Given the description of an element on the screen output the (x, y) to click on. 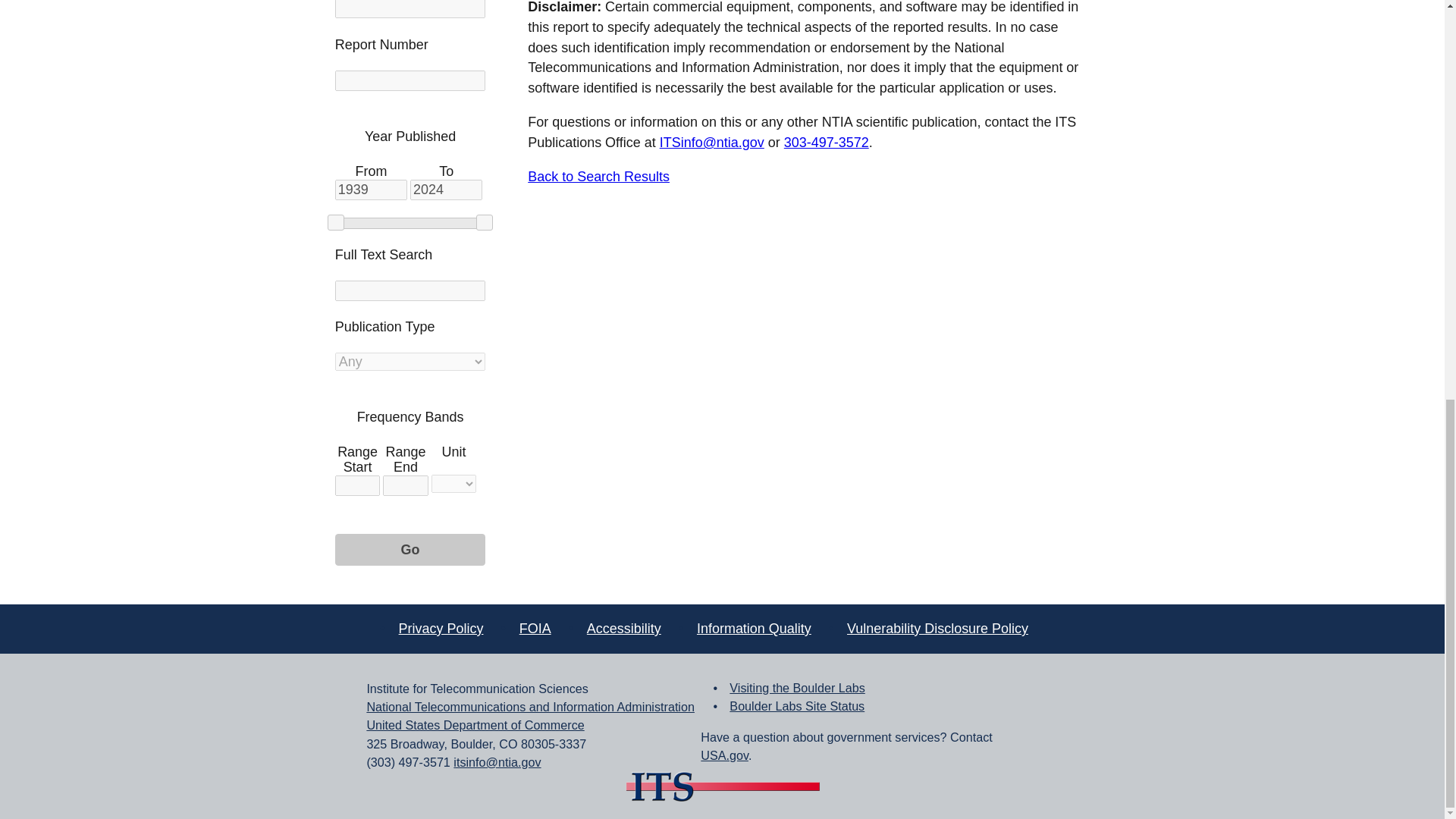
Privacy Policy (440, 628)
Go (409, 549)
Boulder Labs Site Status (796, 705)
National Telecommunications and Information Administration (530, 706)
Back to Search Results (598, 176)
FOIA (535, 628)
Visiting ITS (796, 687)
Accessibility (623, 628)
Visiting the Boulder Labs (796, 687)
1939 (370, 189)
2024 (445, 189)
Go (409, 549)
USA.gov (724, 755)
Information Quality (753, 628)
Vulnerability Disclosure Policy (937, 628)
